Given the description of an element on the screen output the (x, y) to click on. 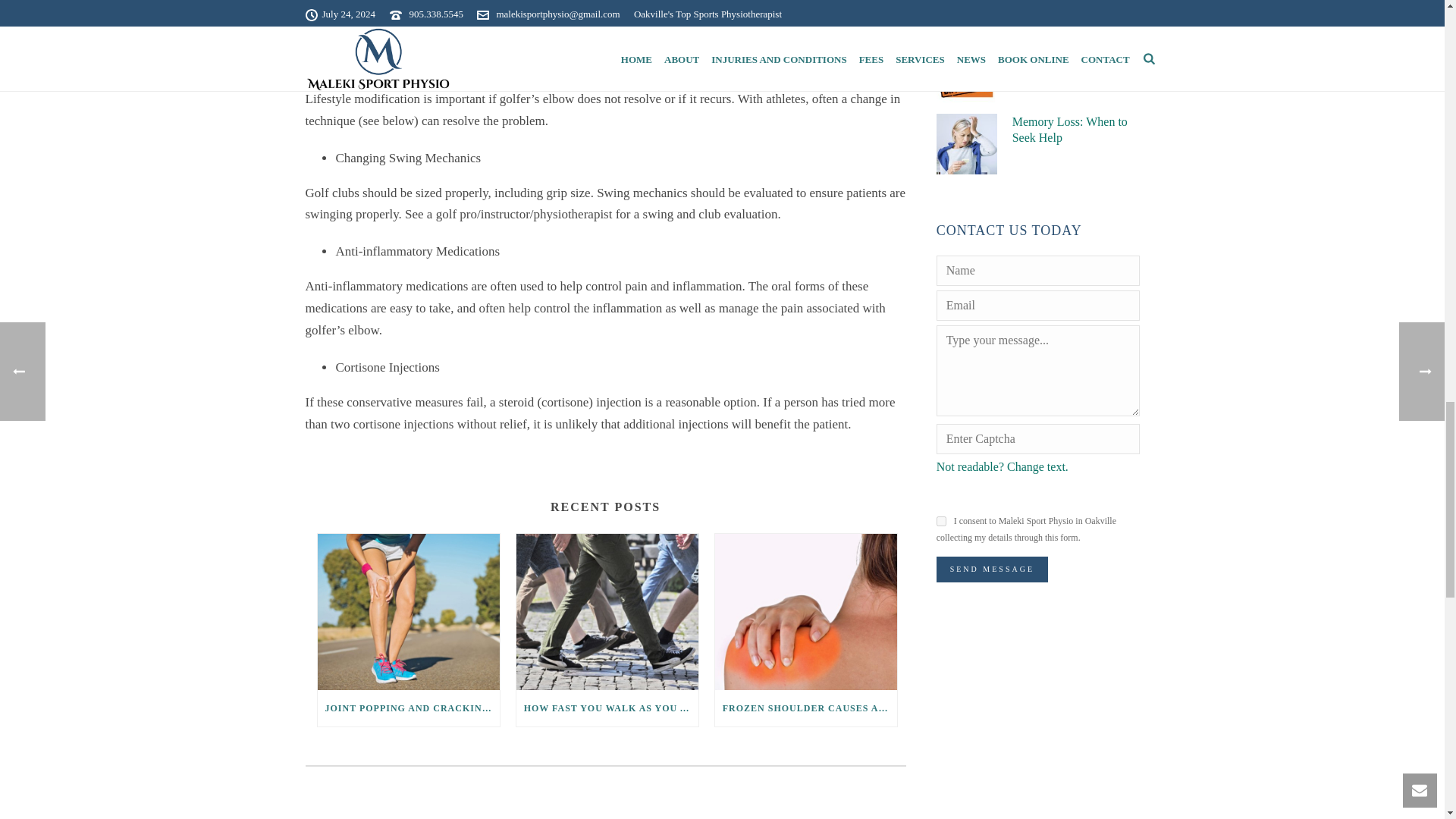
JOINT POPPING AND CRACKING: IS IT SERIOUS? (408, 708)
How Fast You Walk As You Age May Predict Your Lifespan (607, 611)
FROZEN SHOULDER CAUSES AND TREATMENTS (805, 708)
Frozen Shoulder Causes and Treatments (805, 611)
Joint Popping and Cracking: Is It Serious? (408, 611)
HOW FAST YOU WALK AS YOU AGE MAY PREDICT YOUR LIFESPAN (607, 708)
